Given the description of an element on the screen output the (x, y) to click on. 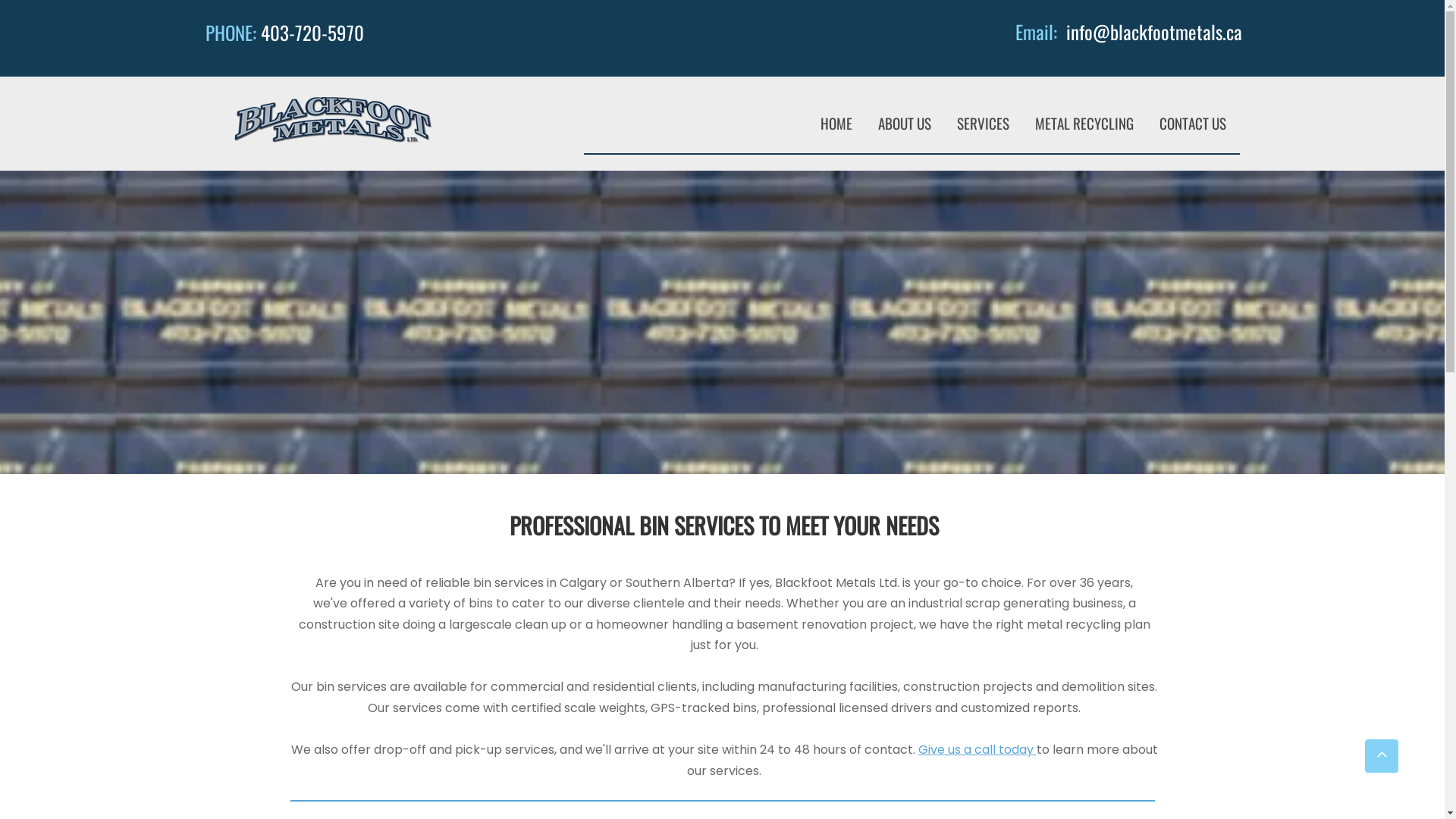
SERVICES Element type: text (983, 122)
CONTACT US Element type: text (1192, 122)
METAL RECYCLING Element type: text (1084, 122)
Give us a call today Element type: text (976, 749)
HOME Element type: text (836, 122)
ABOUT US Element type: text (904, 122)
403-720-5970 Element type: text (312, 32)
info@blackfootmetals.ca Element type: text (1154, 31)
